Given the description of an element on the screen output the (x, y) to click on. 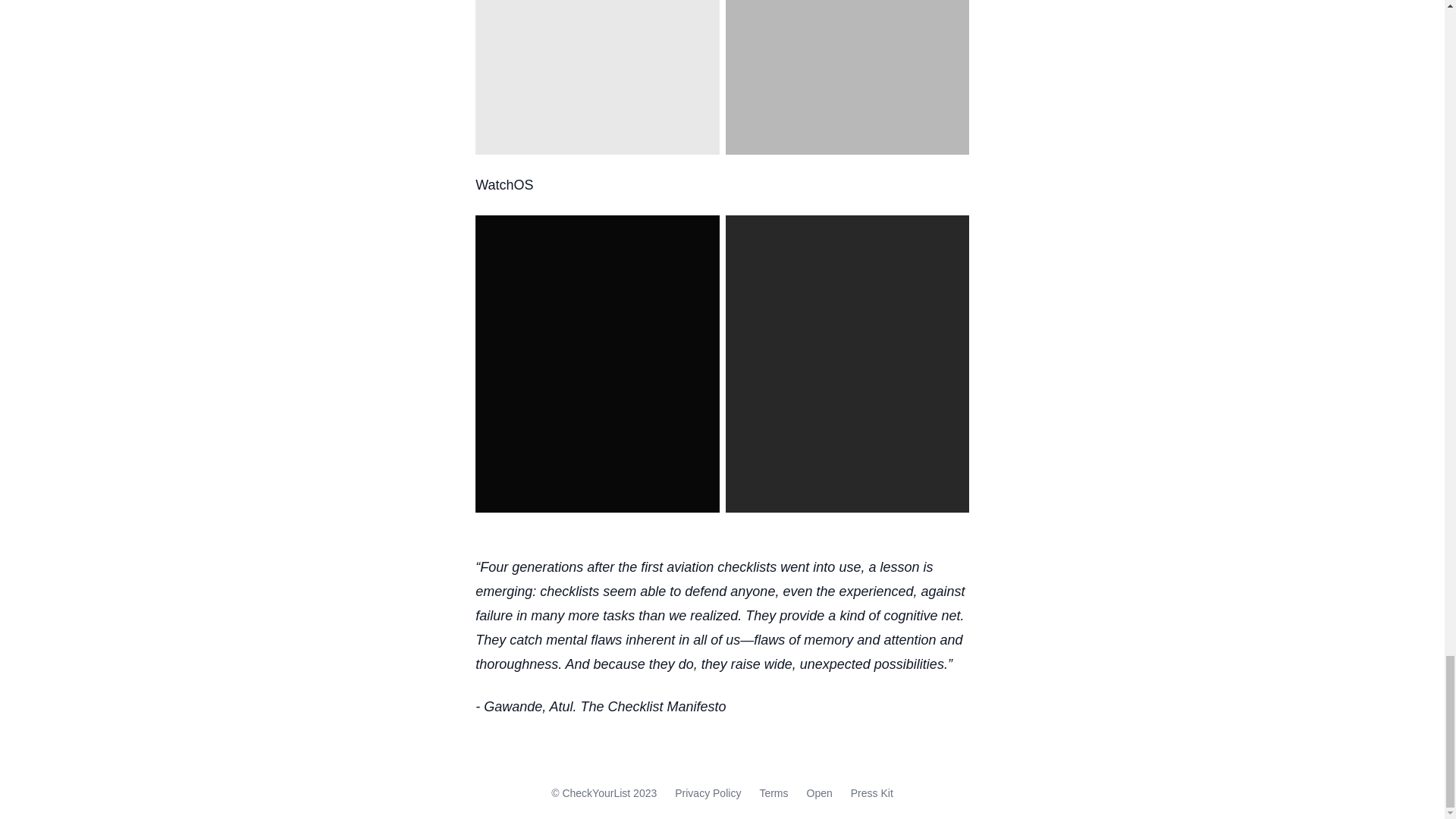
Press Kit (871, 792)
Open (819, 792)
Privacy Policy (708, 792)
Terms (772, 792)
